Given the description of an element on the screen output the (x, y) to click on. 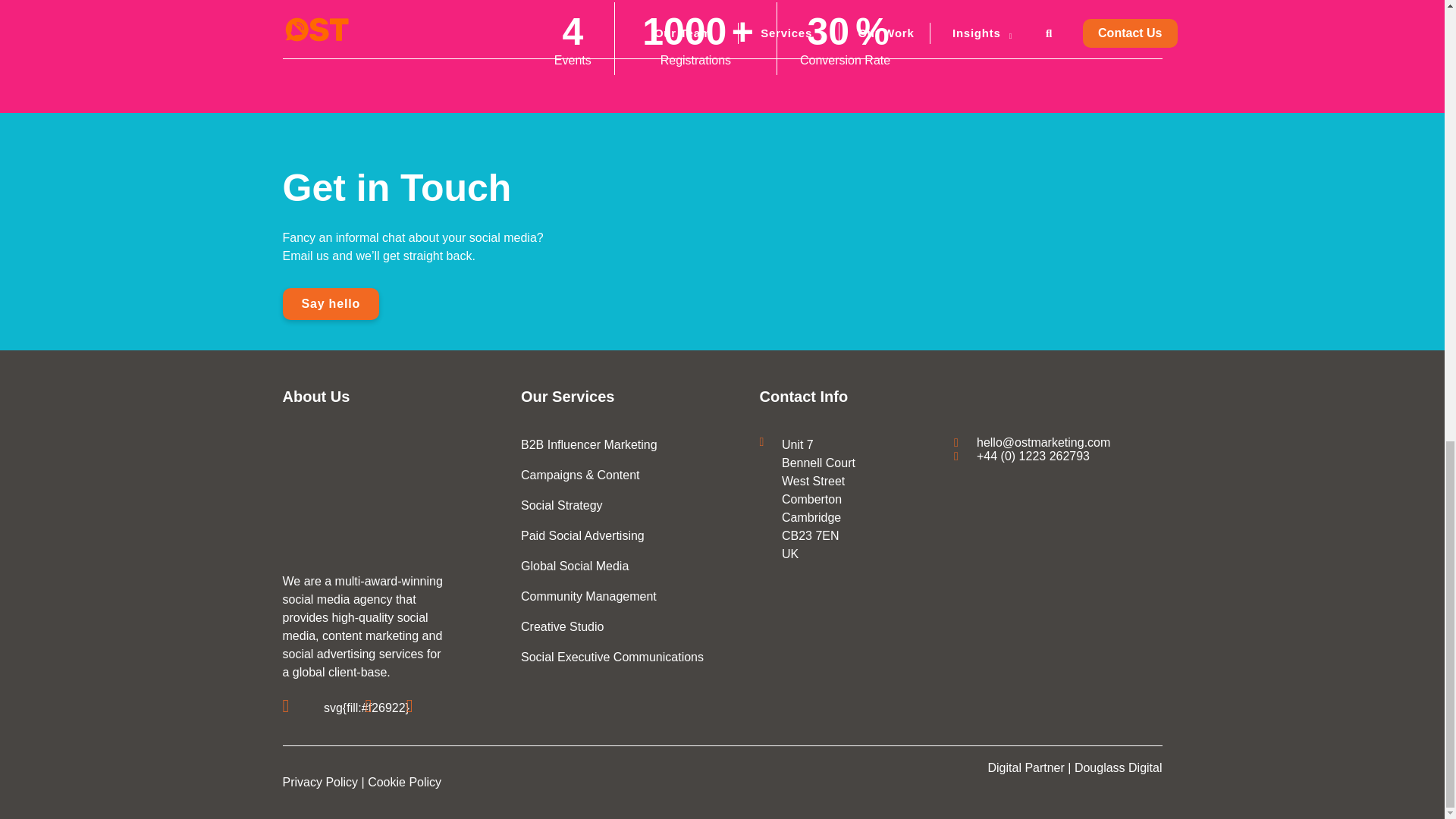
Say hello (330, 304)
Social Executive Communications (612, 656)
Community Management (588, 595)
B2B Influencer Marketing (589, 444)
Social Strategy (561, 504)
Creative Studio (562, 626)
Privacy Policy (320, 781)
Global Social Media (574, 565)
Paid Social Advertising (583, 535)
